Given the description of an element on the screen output the (x, y) to click on. 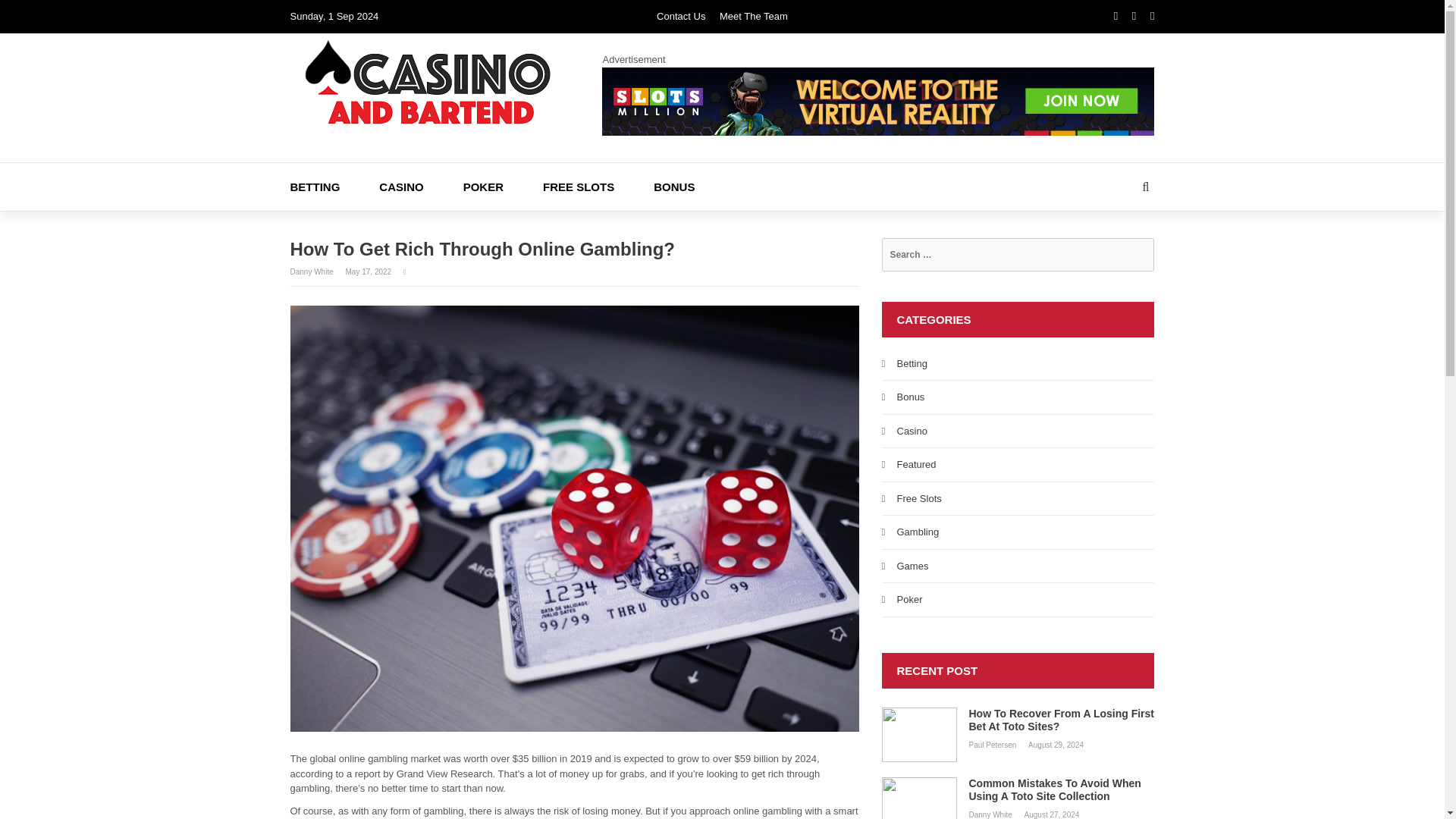
Poker (908, 599)
Common Mistakes To Avoid When Using A Toto Site Collection (1017, 789)
Gambling (917, 531)
BETTING (333, 185)
Free Slots (918, 498)
Betting (911, 363)
Casino (420, 185)
Featured (916, 464)
How To Recover From A Losing First Bet At Toto Sites? (1017, 719)
Betting (333, 185)
